Given the description of an element on the screen output the (x, y) to click on. 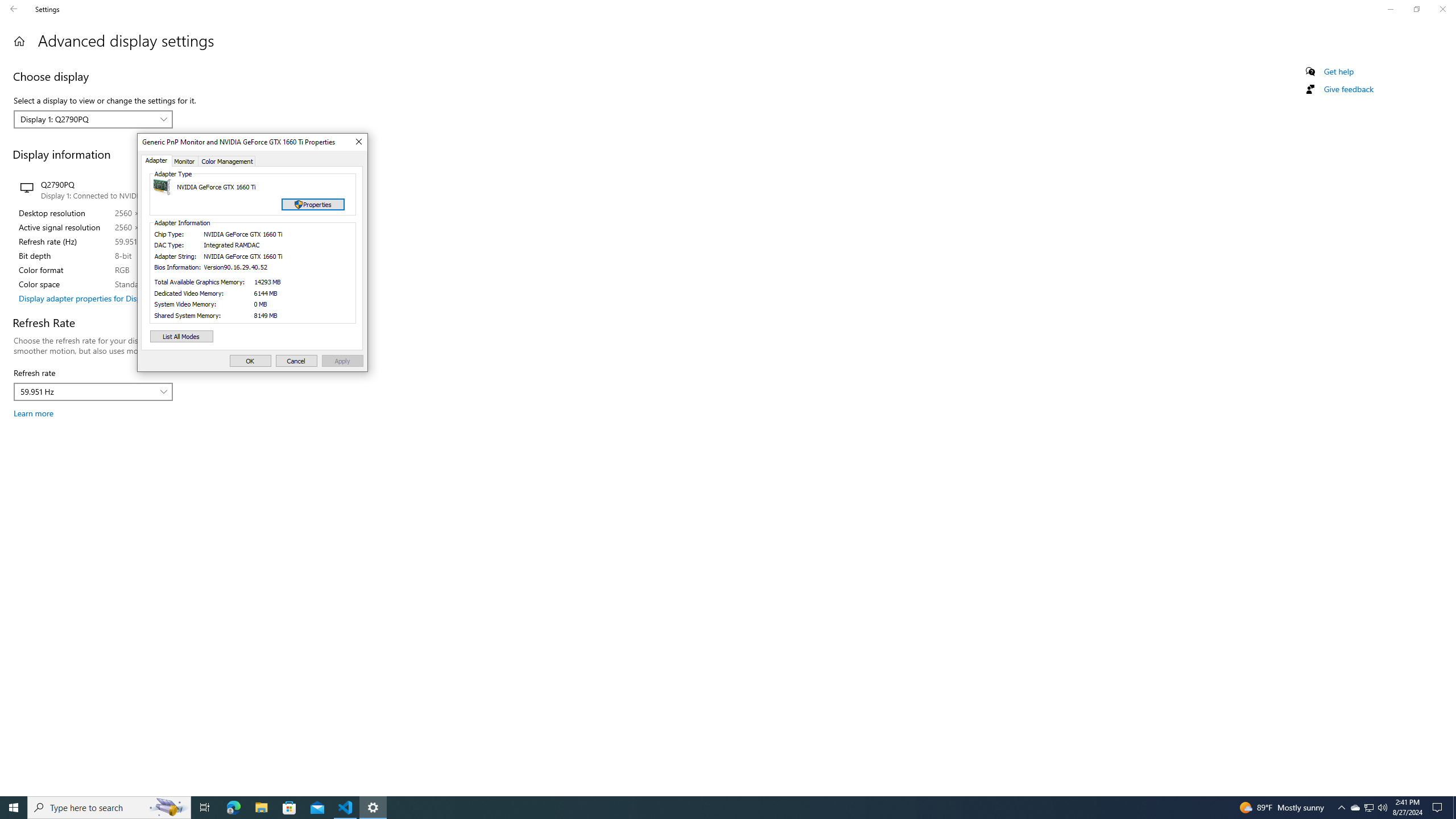
OK (250, 360)
Settings - 1 running window (373, 807)
Cancel (296, 360)
Monitor (184, 160)
Color Management (227, 160)
Close (357, 141)
